Given the description of an element on the screen output the (x, y) to click on. 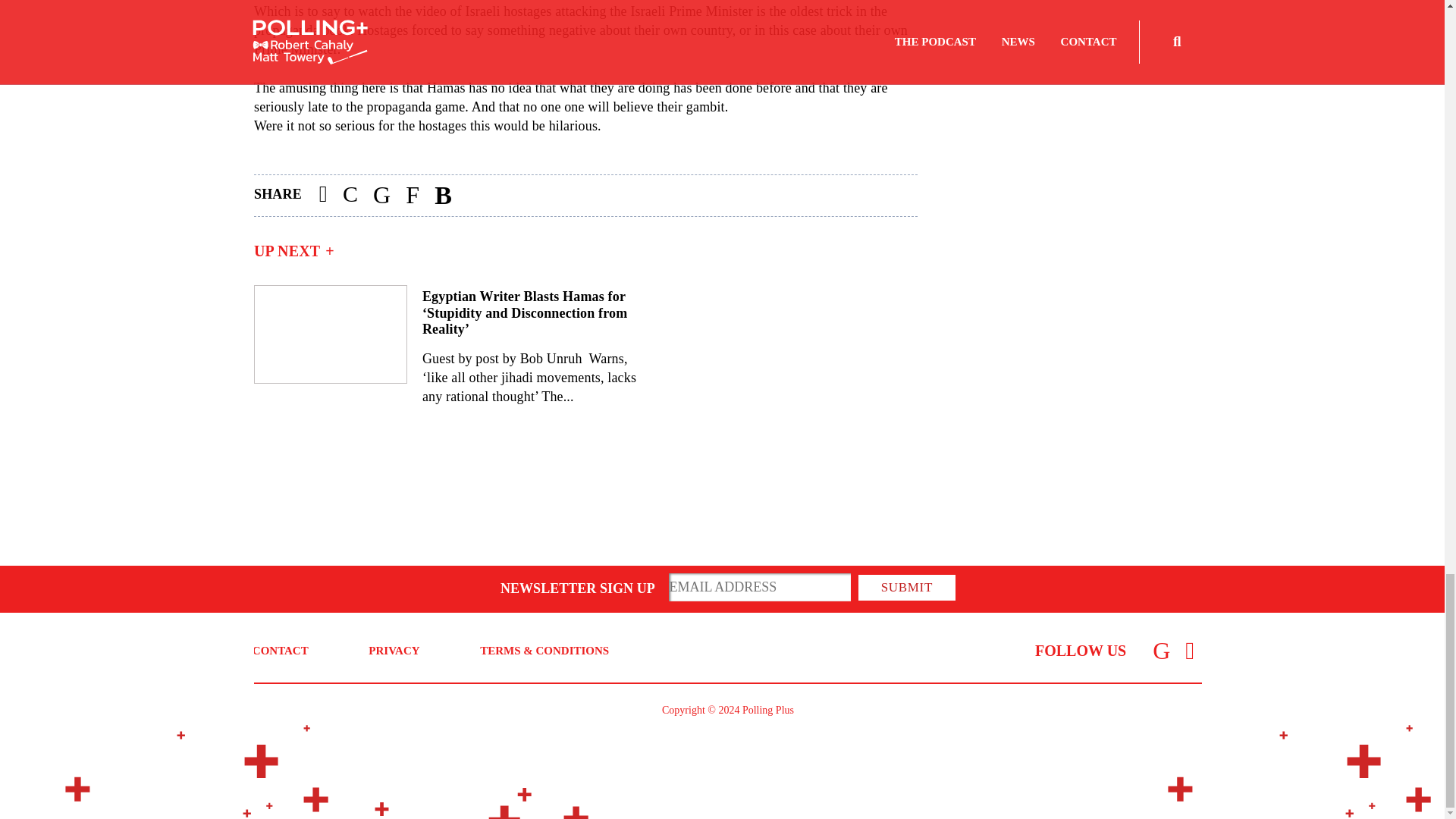
Linked In (1160, 650)
CONTACT (279, 650)
Share on Truth Social (411, 195)
Share on Twitter (381, 195)
Share on Parler (349, 195)
PRIVACY (393, 650)
Share on Facebook (322, 195)
Facebook (1189, 650)
Submit (907, 587)
Submit (907, 587)
Share on Gettr (443, 195)
